Given the description of an element on the screen output the (x, y) to click on. 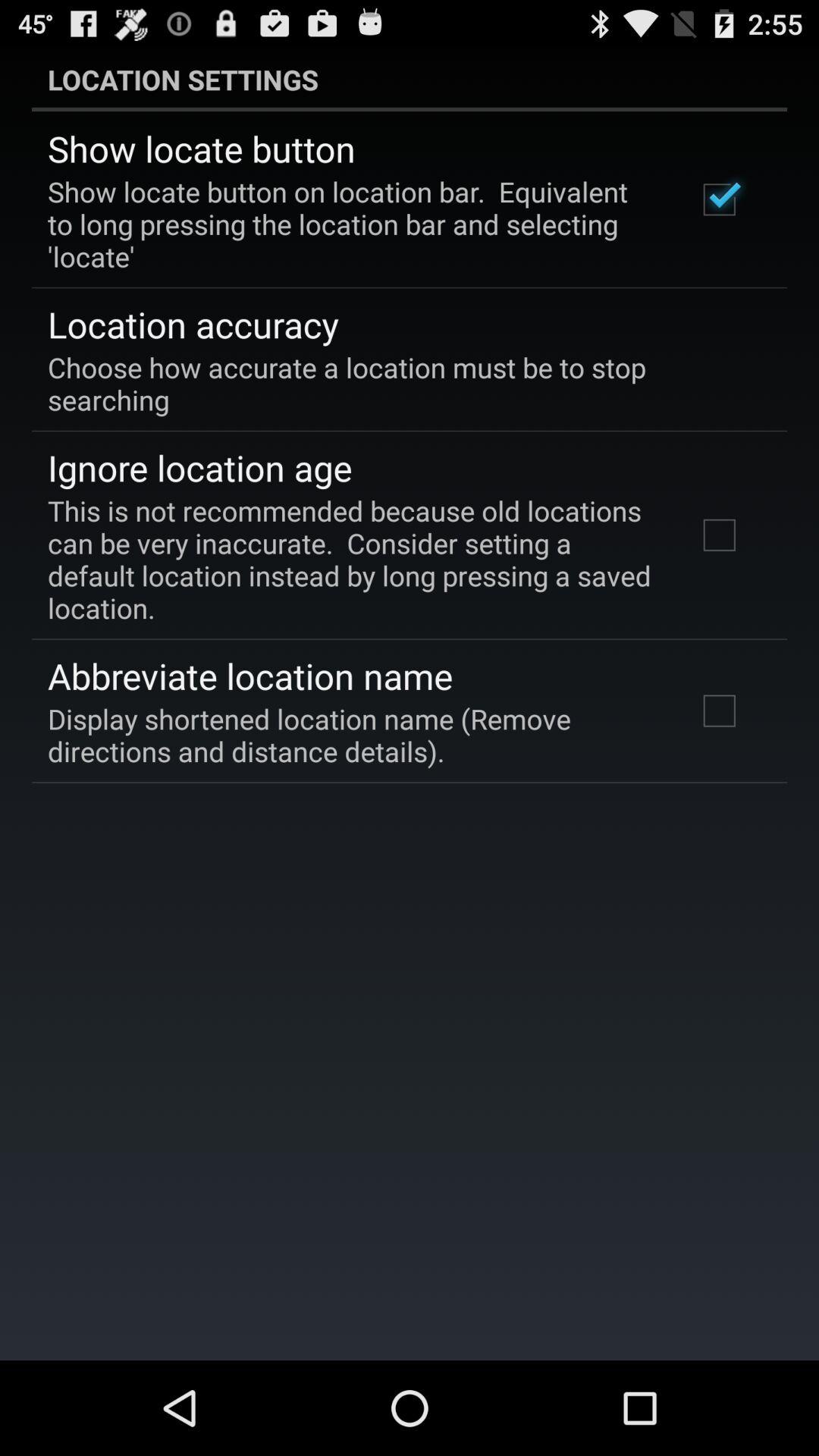
swipe to display shortened location app (351, 735)
